Given the description of an element on the screen output the (x, y) to click on. 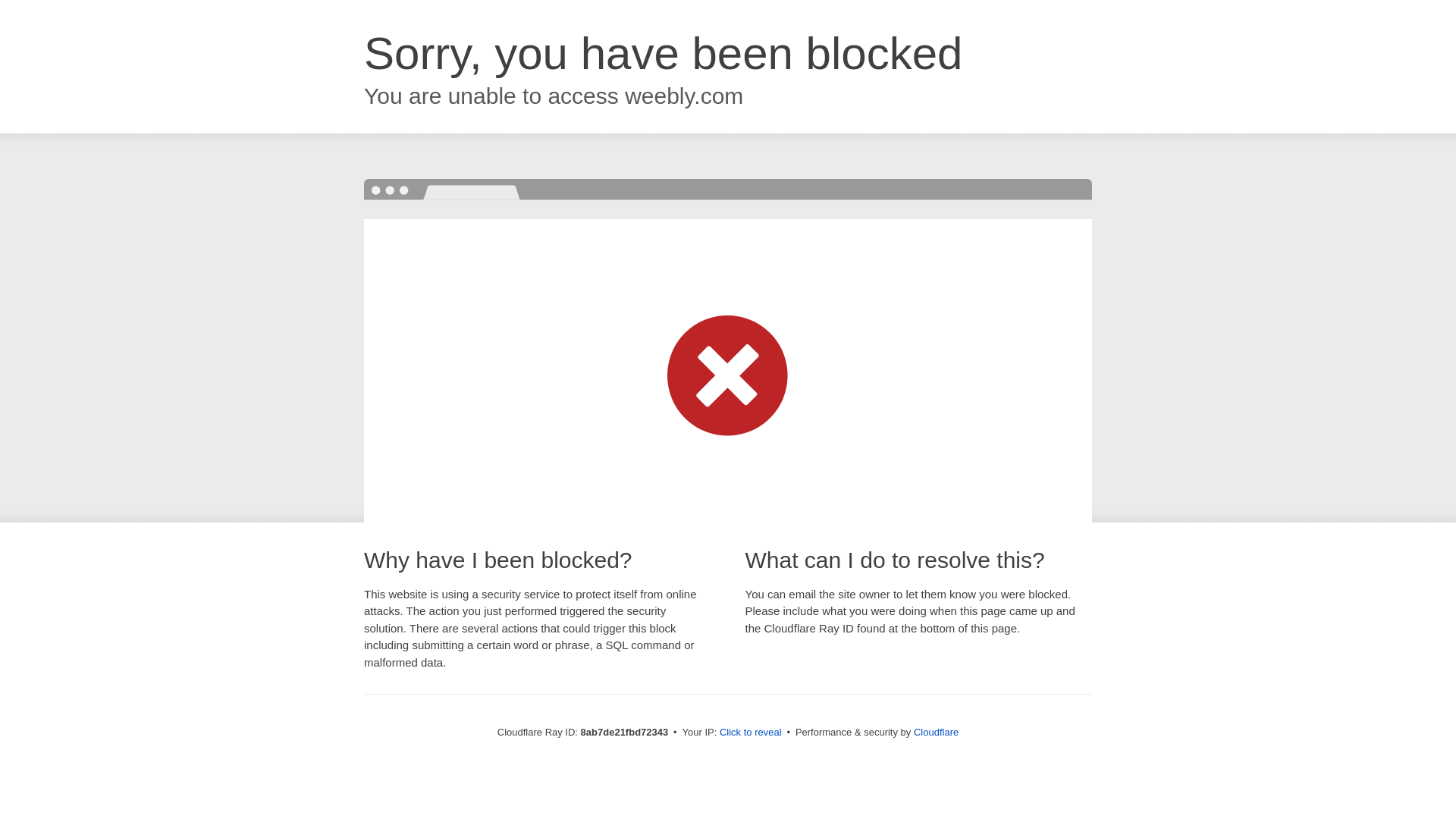
Click to reveal (750, 732)
Cloudflare (936, 731)
